Given the description of an element on the screen output the (x, y) to click on. 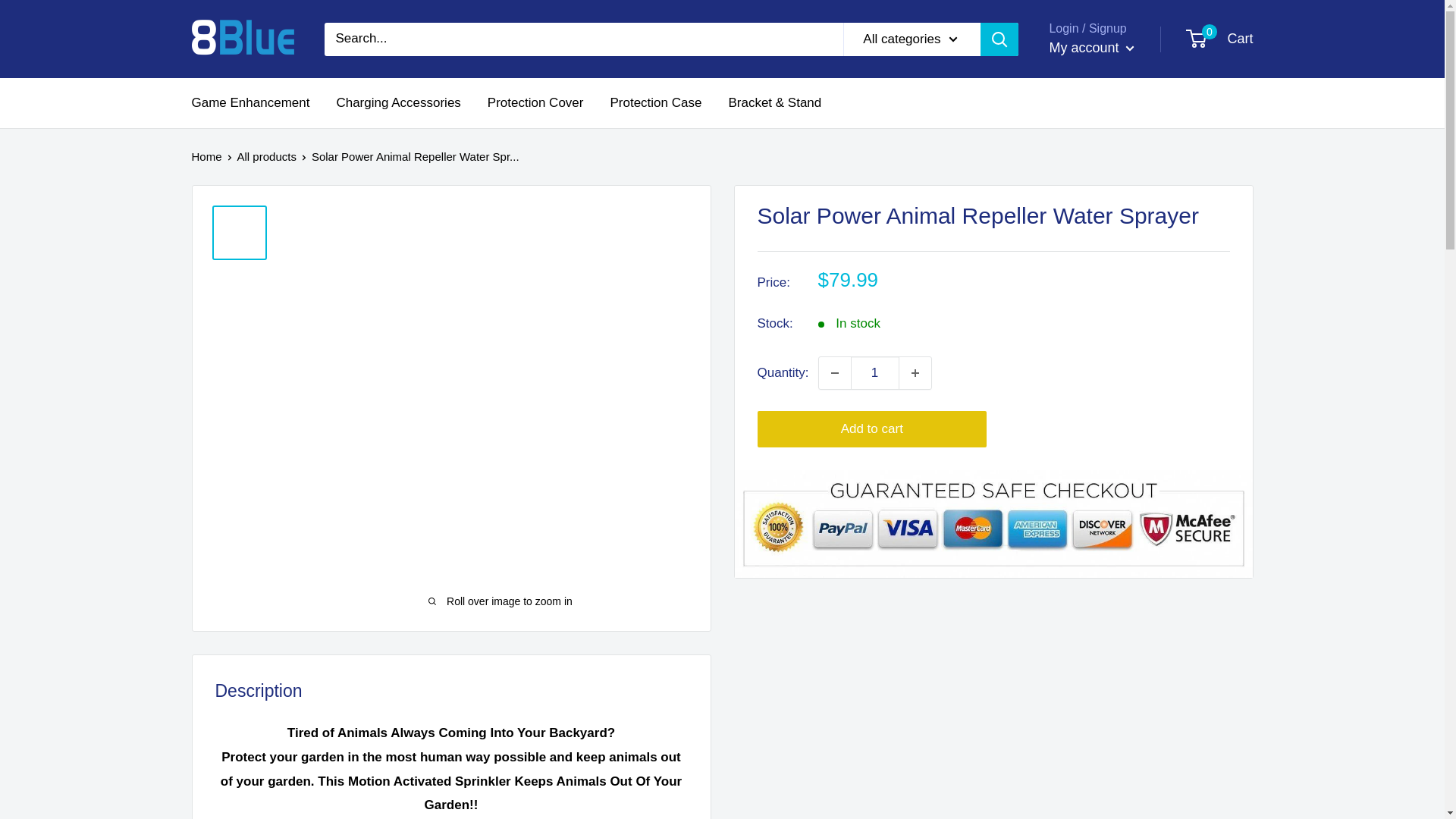
My account (1091, 48)
All products (267, 155)
1 (874, 373)
Charging Accessories (398, 102)
Decrease quantity by 1 (834, 373)
Game Enhancement (249, 102)
Increase quantity by 1 (915, 373)
Home (205, 155)
Protection Case (655, 102)
Protection Cover (535, 102)
